Given the description of an element on the screen output the (x, y) to click on. 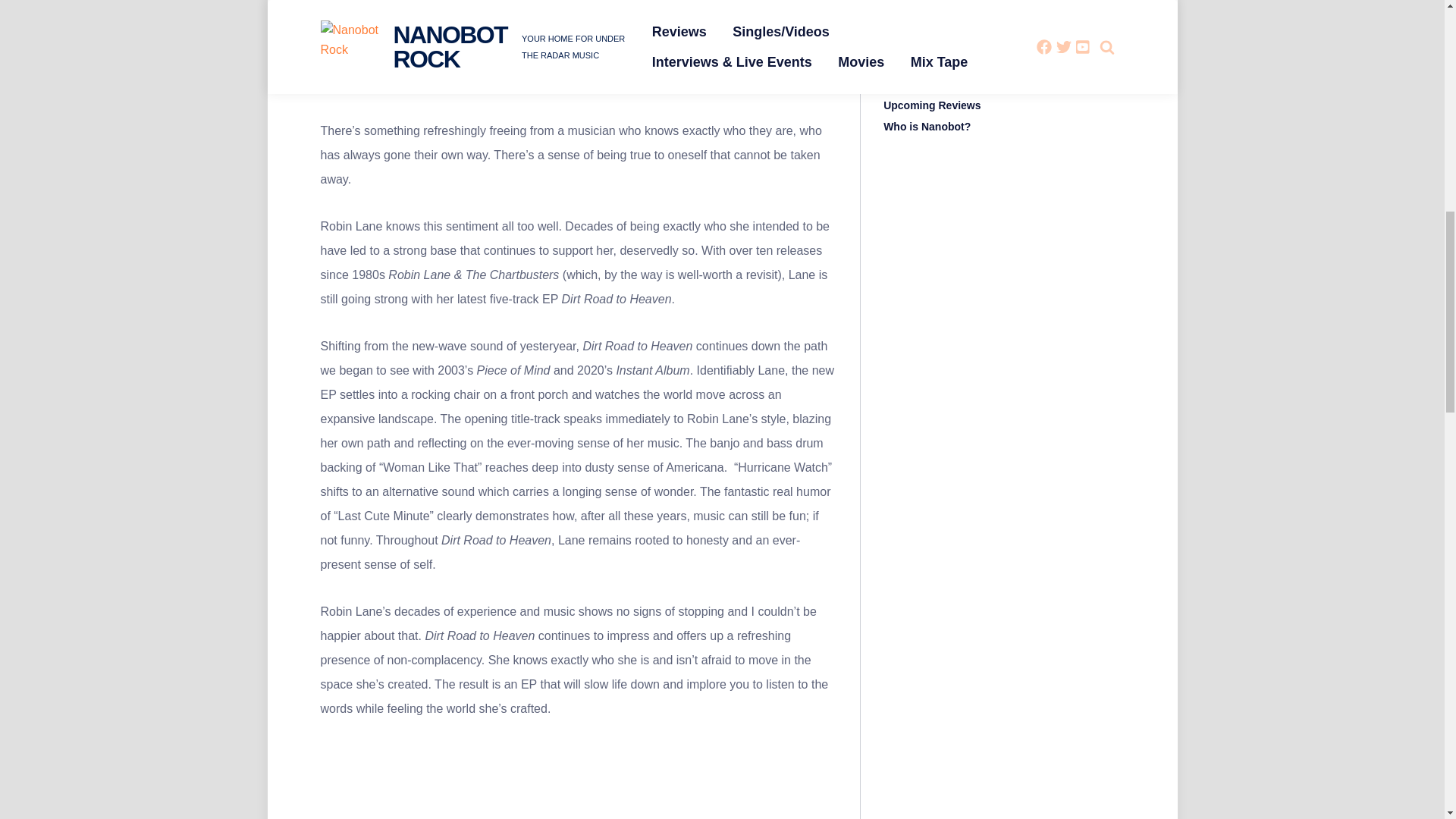
GREG (333, 57)
Home (897, 62)
Archive (902, 41)
